Given the description of an element on the screen output the (x, y) to click on. 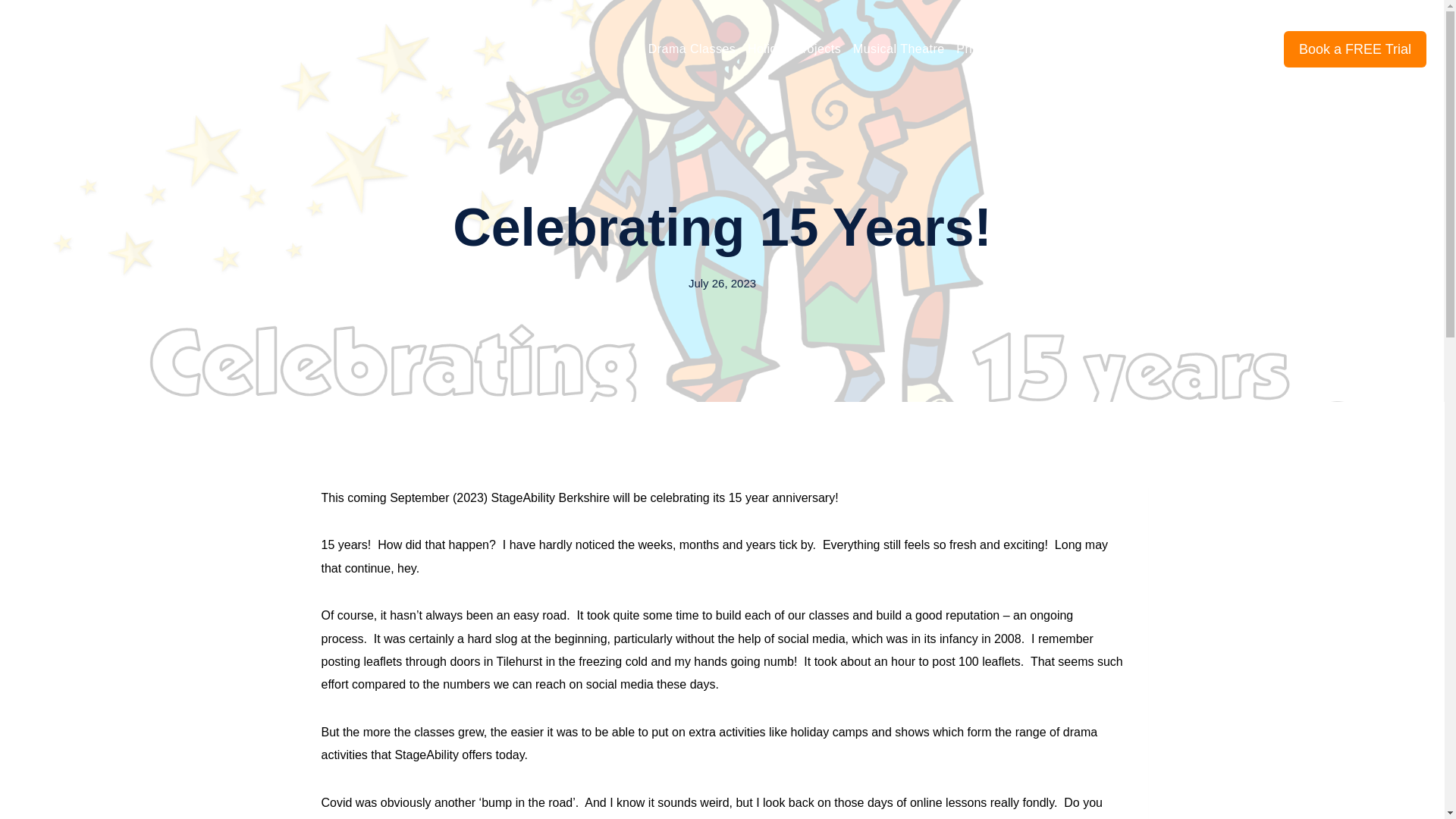
Contact (1240, 49)
Holiday Projects (794, 49)
Drama Classes (691, 49)
Musical Theatre (898, 49)
Book a FREE Trial (1355, 49)
Primary Schools (1002, 49)
